Given the description of an element on the screen output the (x, y) to click on. 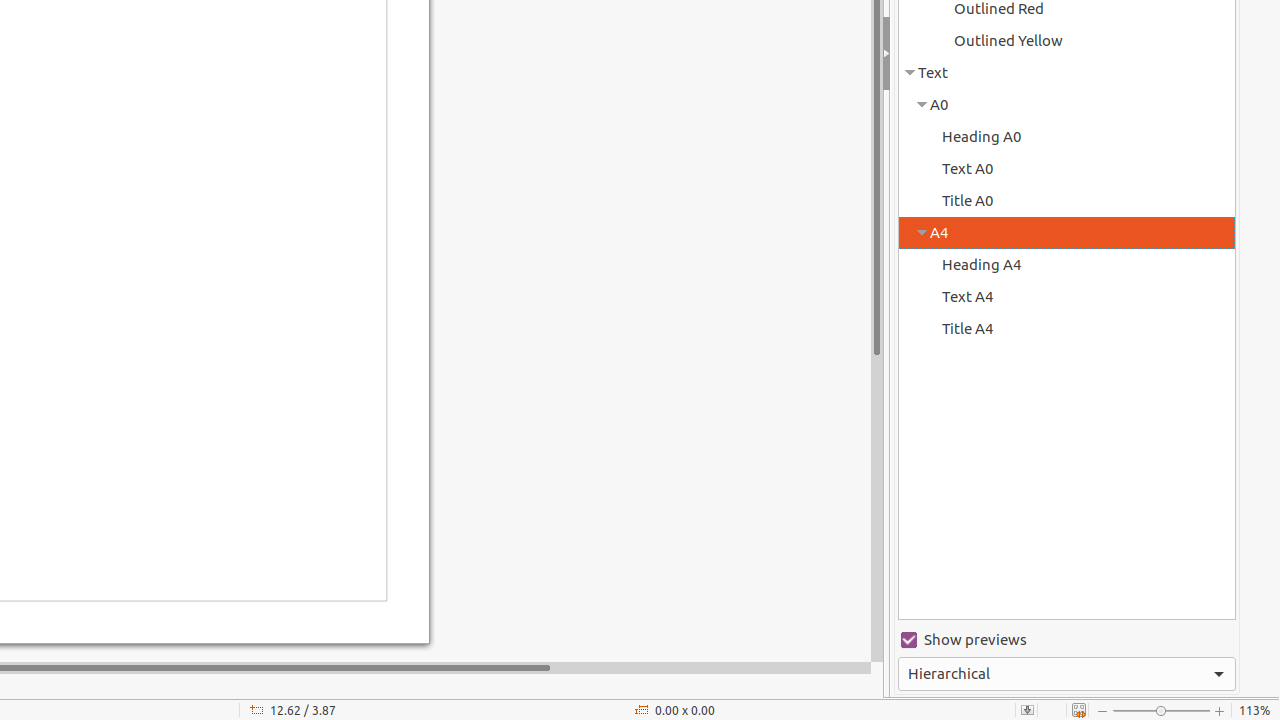
Show previews Element type: check-box (1067, 640)
